Given the description of an element on the screen output the (x, y) to click on. 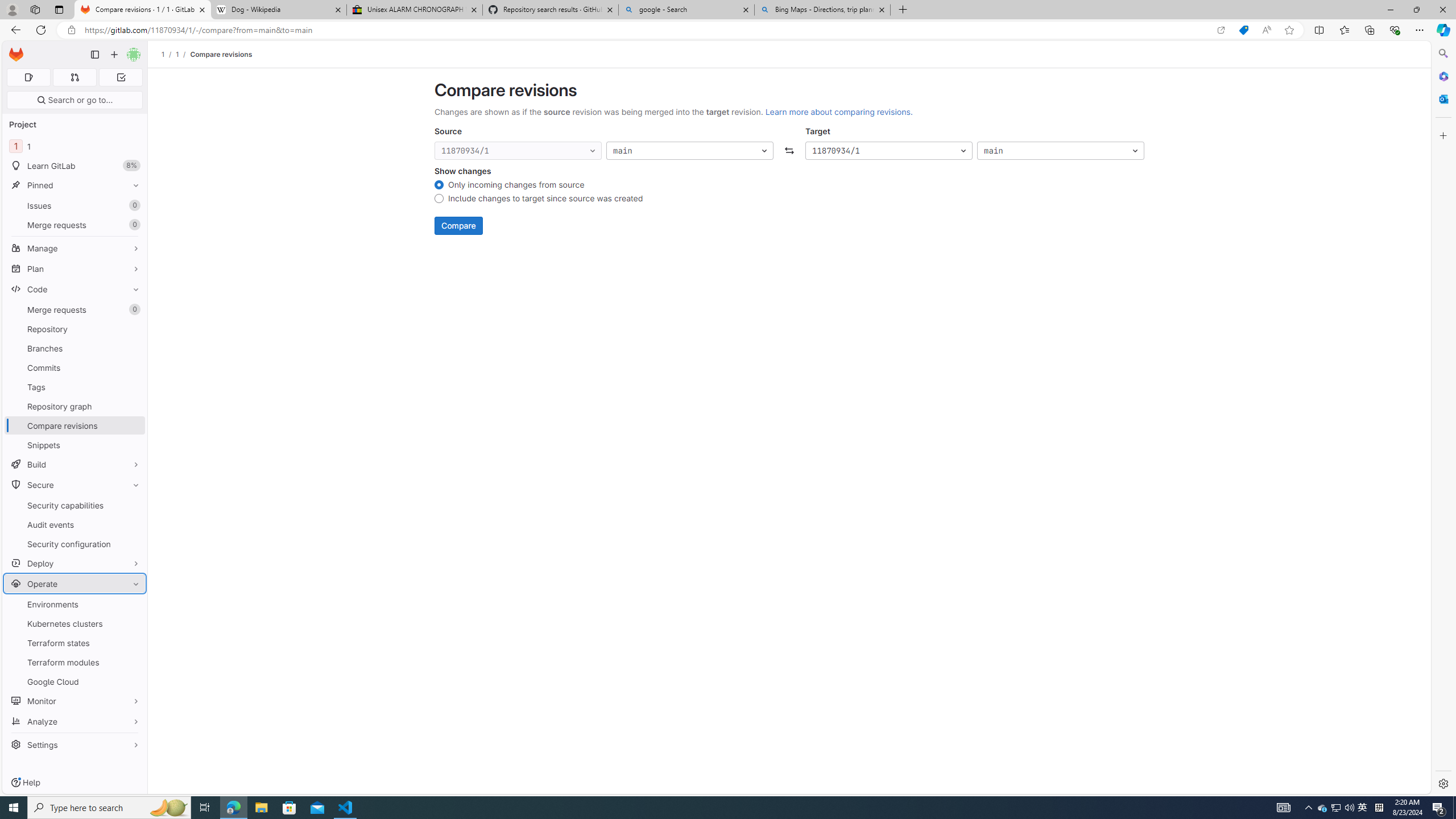
main (1060, 150)
Pin Security capabilities (132, 504)
Analyze (74, 720)
Swap (788, 150)
Unpin Merge requests (132, 309)
Monitor (74, 700)
Primary navigation sidebar (94, 54)
Pin Terraform states (132, 642)
Pin Commits (132, 367)
Plan (74, 268)
Tags (74, 386)
